Given the description of an element on the screen output the (x, y) to click on. 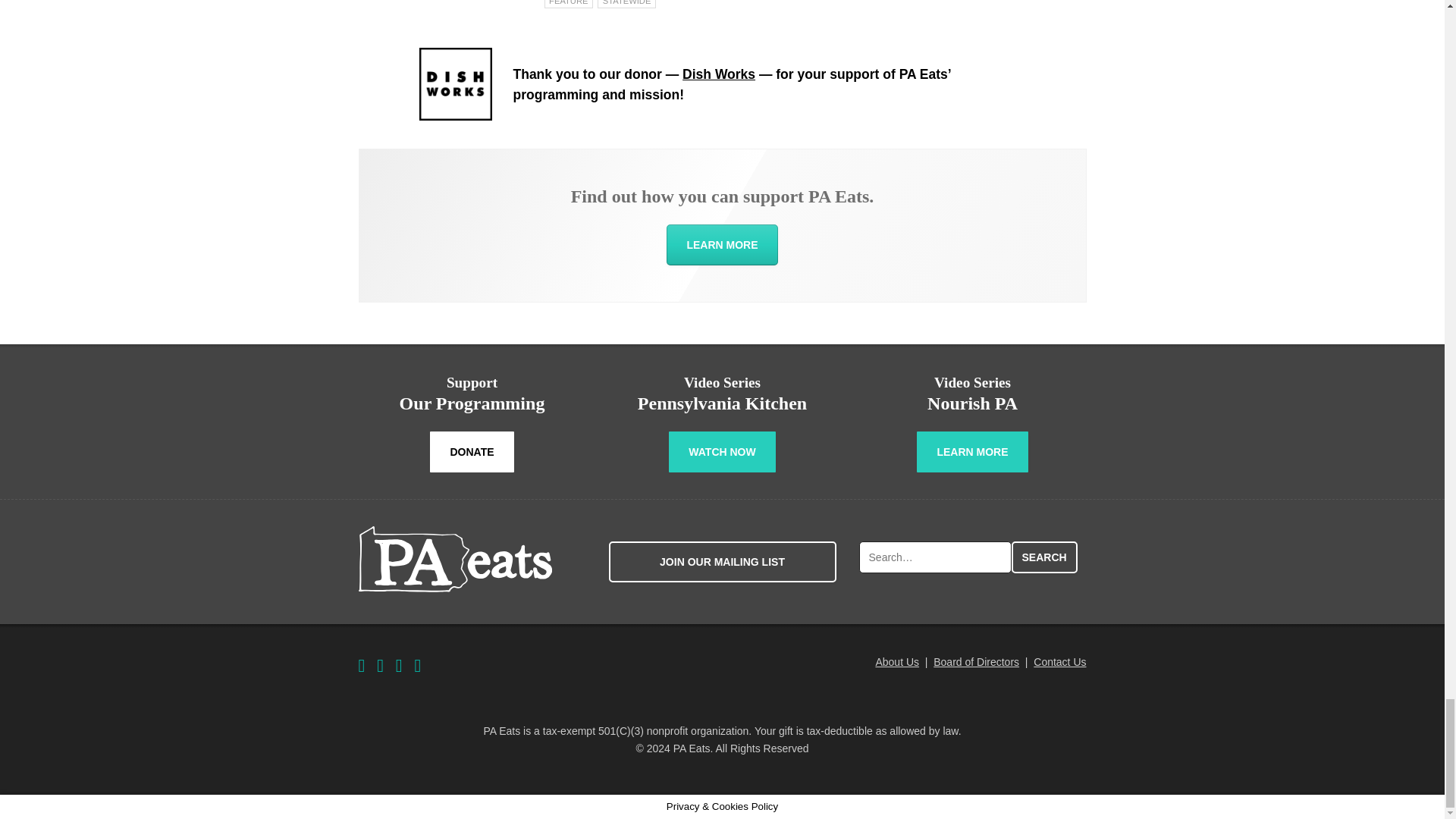
Search (1044, 557)
PA Eats Logo (454, 559)
